Given the description of an element on the screen output the (x, y) to click on. 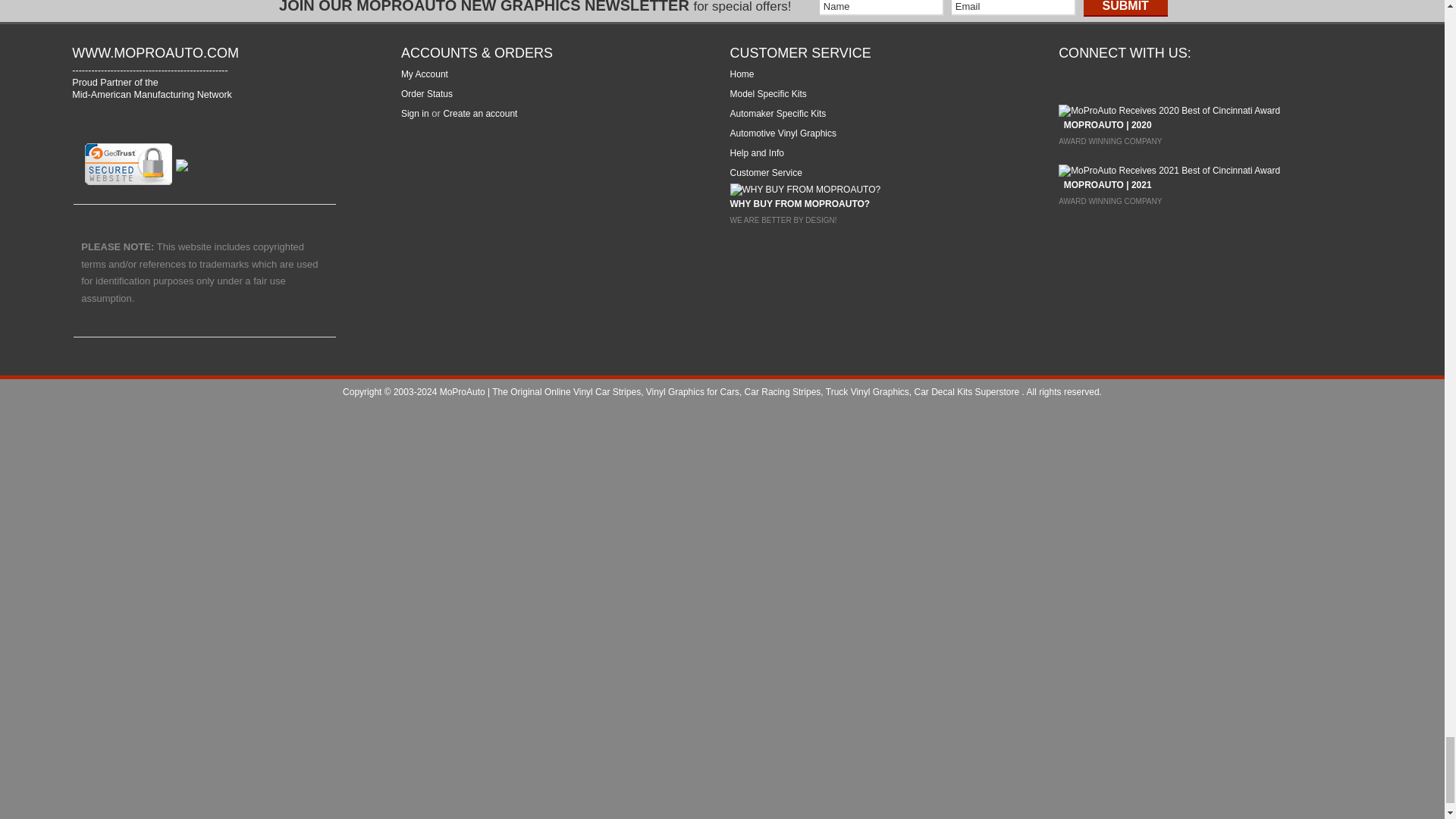
Email (1013, 7)
Submit (1125, 8)
Name (881, 7)
